Given the description of an element on the screen output the (x, y) to click on. 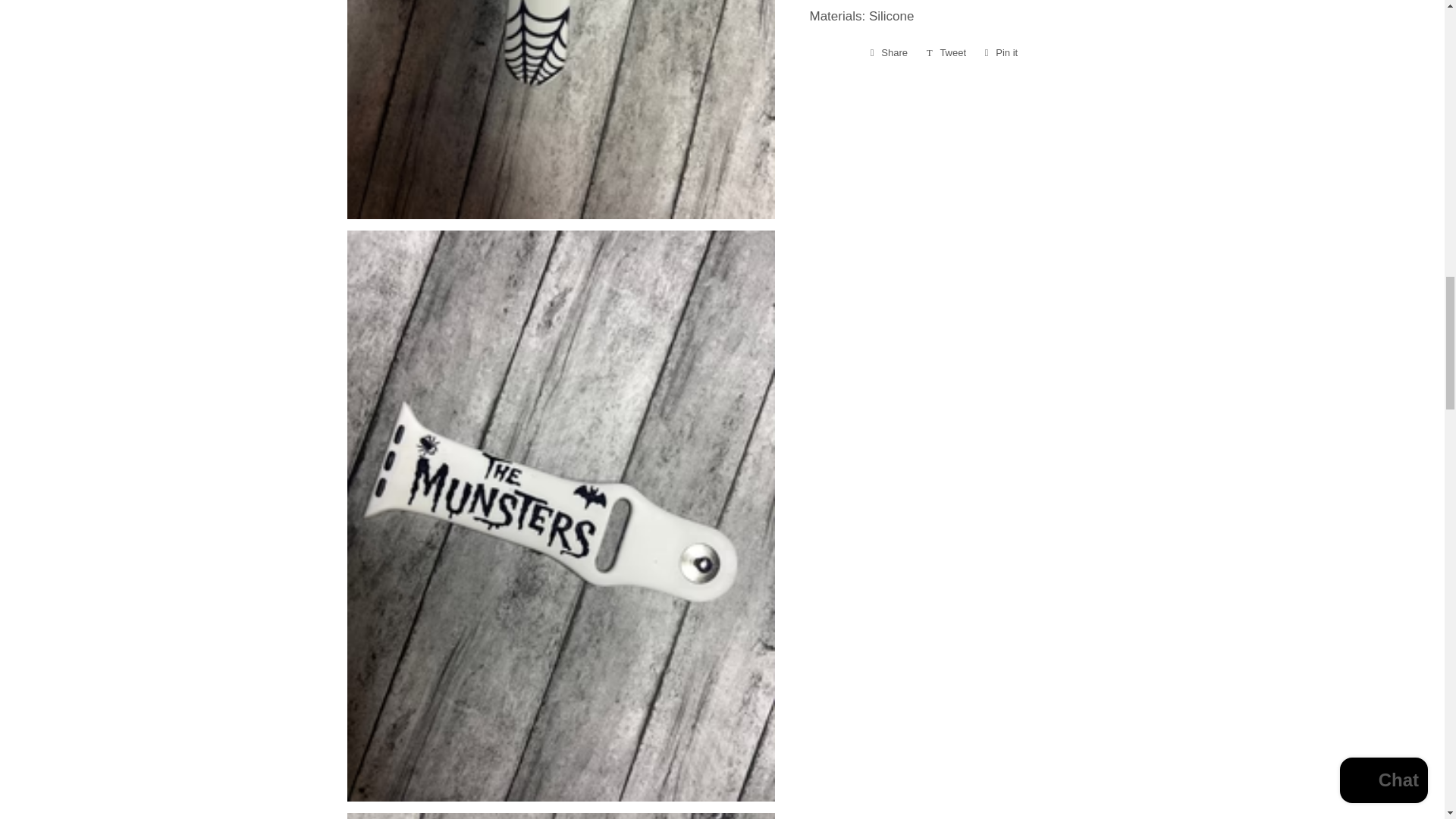
Tweet on Twitter (946, 52)
Pin on Pinterest (946, 52)
Share on Facebook (1000, 52)
